Given the description of an element on the screen output the (x, y) to click on. 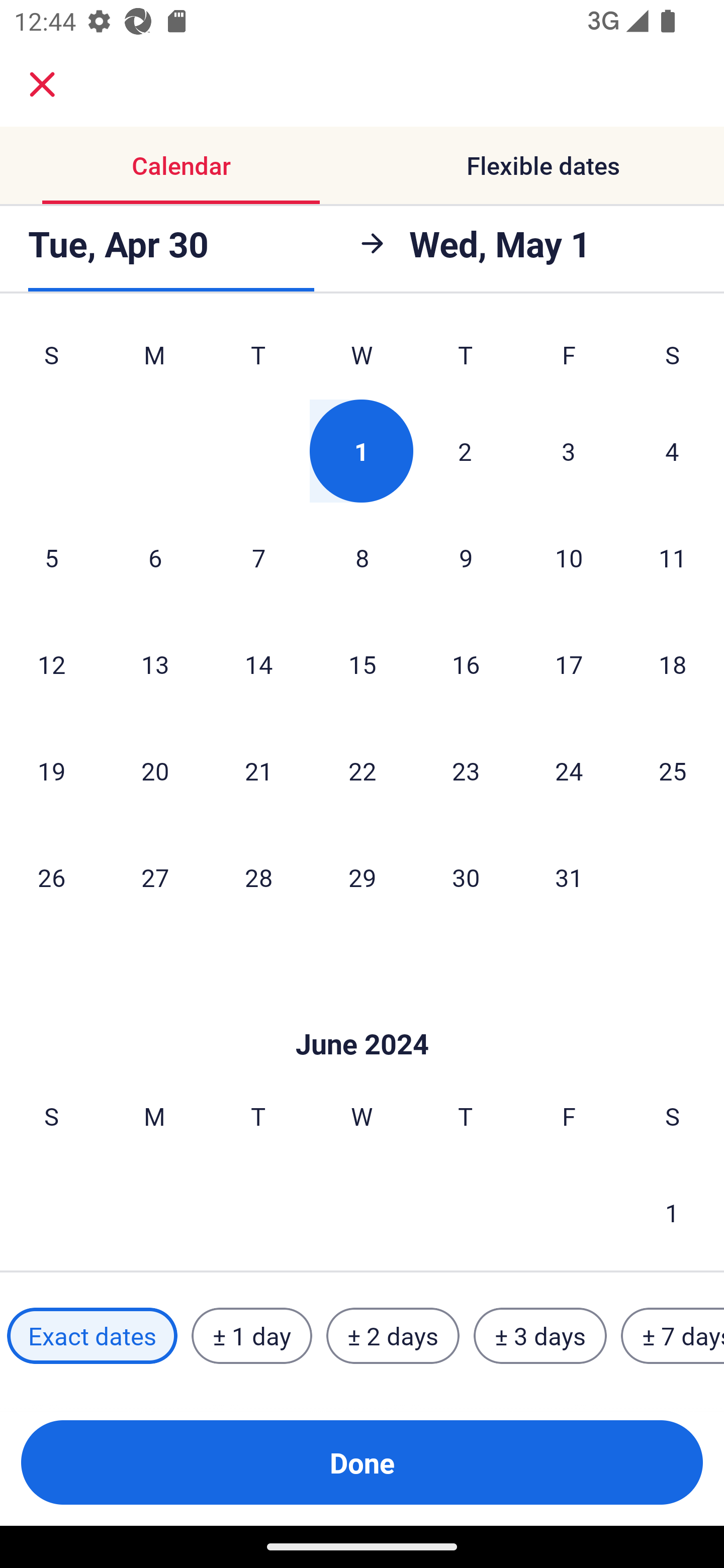
close. (42, 84)
Flexible dates (542, 164)
2 Thursday, May 2, 2024 (464, 451)
3 Friday, May 3, 2024 (568, 451)
4 Saturday, May 4, 2024 (672, 451)
5 Sunday, May 5, 2024 (51, 557)
6 Monday, May 6, 2024 (155, 557)
7 Tuesday, May 7, 2024 (258, 557)
8 Wednesday, May 8, 2024 (362, 557)
9 Thursday, May 9, 2024 (465, 557)
10 Friday, May 10, 2024 (569, 557)
11 Saturday, May 11, 2024 (672, 557)
12 Sunday, May 12, 2024 (51, 664)
13 Monday, May 13, 2024 (155, 664)
14 Tuesday, May 14, 2024 (258, 664)
15 Wednesday, May 15, 2024 (362, 664)
16 Thursday, May 16, 2024 (465, 664)
17 Friday, May 17, 2024 (569, 664)
18 Saturday, May 18, 2024 (672, 664)
19 Sunday, May 19, 2024 (51, 770)
20 Monday, May 20, 2024 (155, 770)
21 Tuesday, May 21, 2024 (258, 770)
22 Wednesday, May 22, 2024 (362, 770)
23 Thursday, May 23, 2024 (465, 770)
24 Friday, May 24, 2024 (569, 770)
25 Saturday, May 25, 2024 (672, 770)
26 Sunday, May 26, 2024 (51, 877)
27 Monday, May 27, 2024 (155, 877)
28 Tuesday, May 28, 2024 (258, 877)
29 Wednesday, May 29, 2024 (362, 877)
30 Thursday, May 30, 2024 (465, 877)
31 Friday, May 31, 2024 (569, 877)
Skip to Done (362, 1014)
1 Saturday, June 1, 2024 (672, 1211)
Exact dates (92, 1335)
± 1 day (251, 1335)
± 2 days (392, 1335)
± 3 days (539, 1335)
± 7 days (672, 1335)
Done (361, 1462)
